Given the description of an element on the screen output the (x, y) to click on. 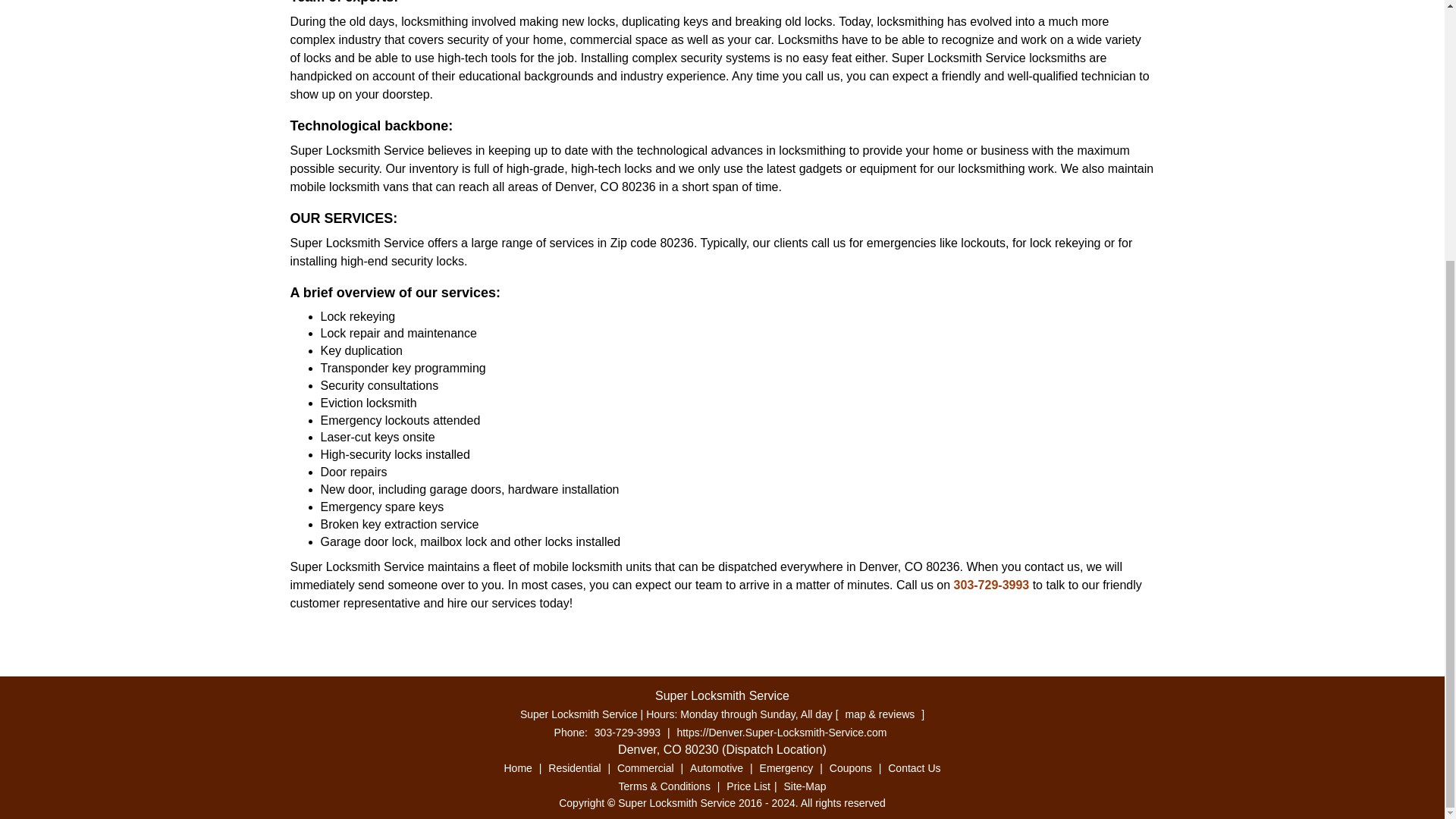
Coupons (850, 767)
Commercial (645, 767)
Residential (574, 767)
Emergency (785, 767)
Site-Map (803, 786)
Home (517, 767)
Contact Us (913, 767)
Automotive (715, 767)
303-729-3993 (627, 732)
Price List (748, 786)
